Given the description of an element on the screen output the (x, y) to click on. 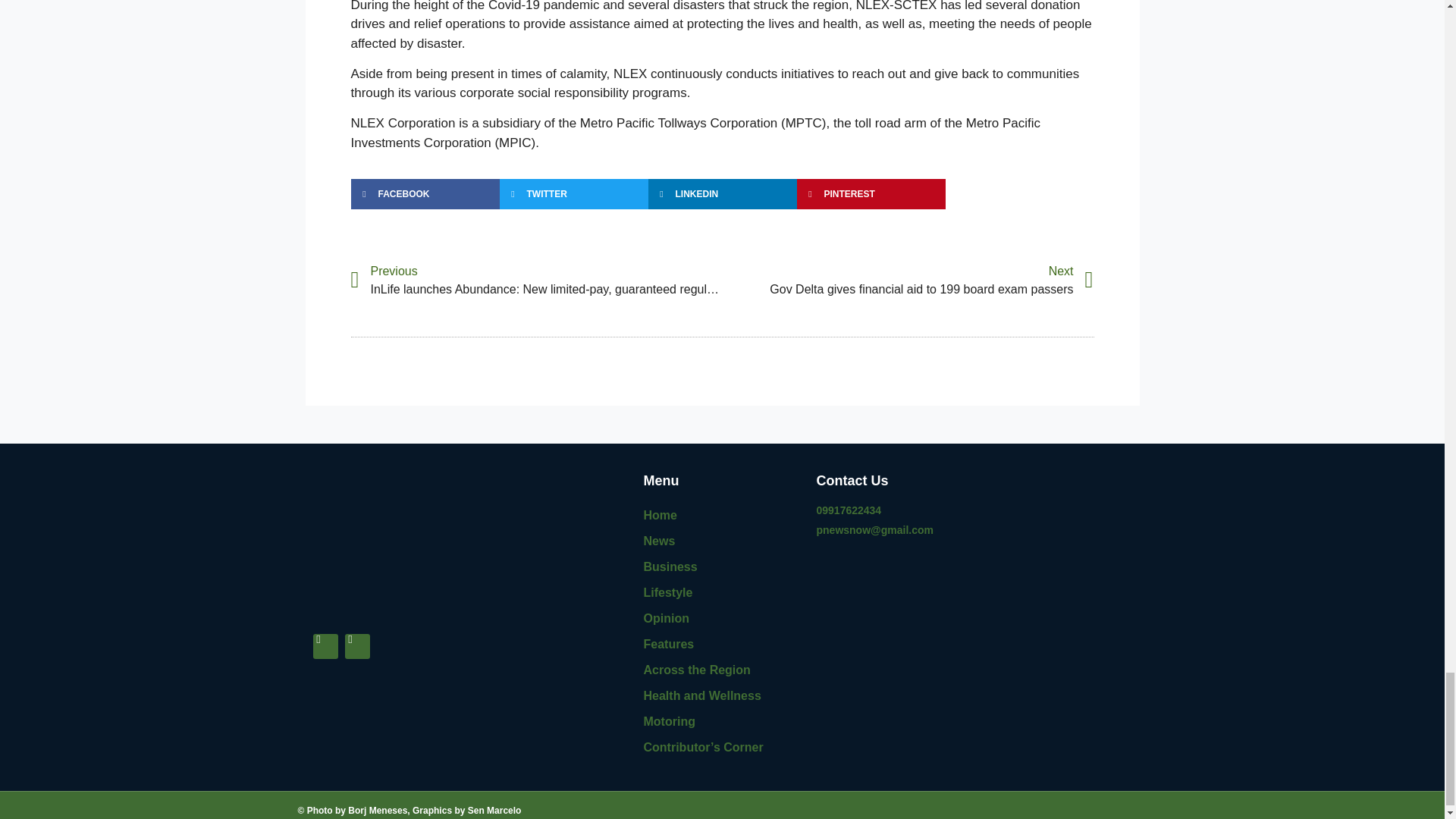
Motoring (907, 280)
Across the Region (721, 721)
Health and Wellness (721, 670)
Opinion (721, 696)
News (721, 618)
Home (721, 541)
Features (721, 515)
Business (721, 644)
Lifestyle (721, 566)
